Given the description of an element on the screen output the (x, y) to click on. 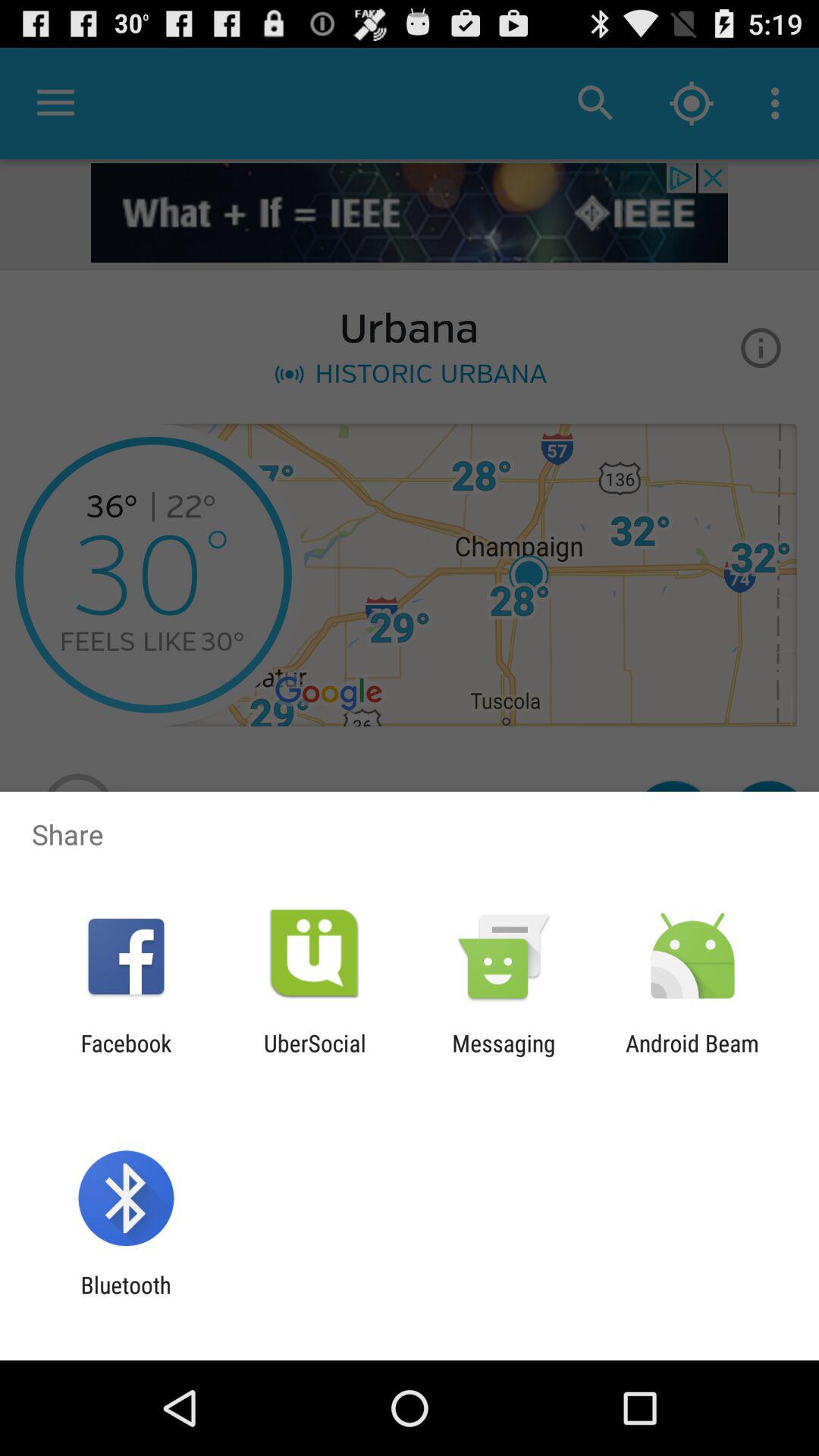
tap item next to facebook icon (314, 1056)
